Given the description of an element on the screen output the (x, y) to click on. 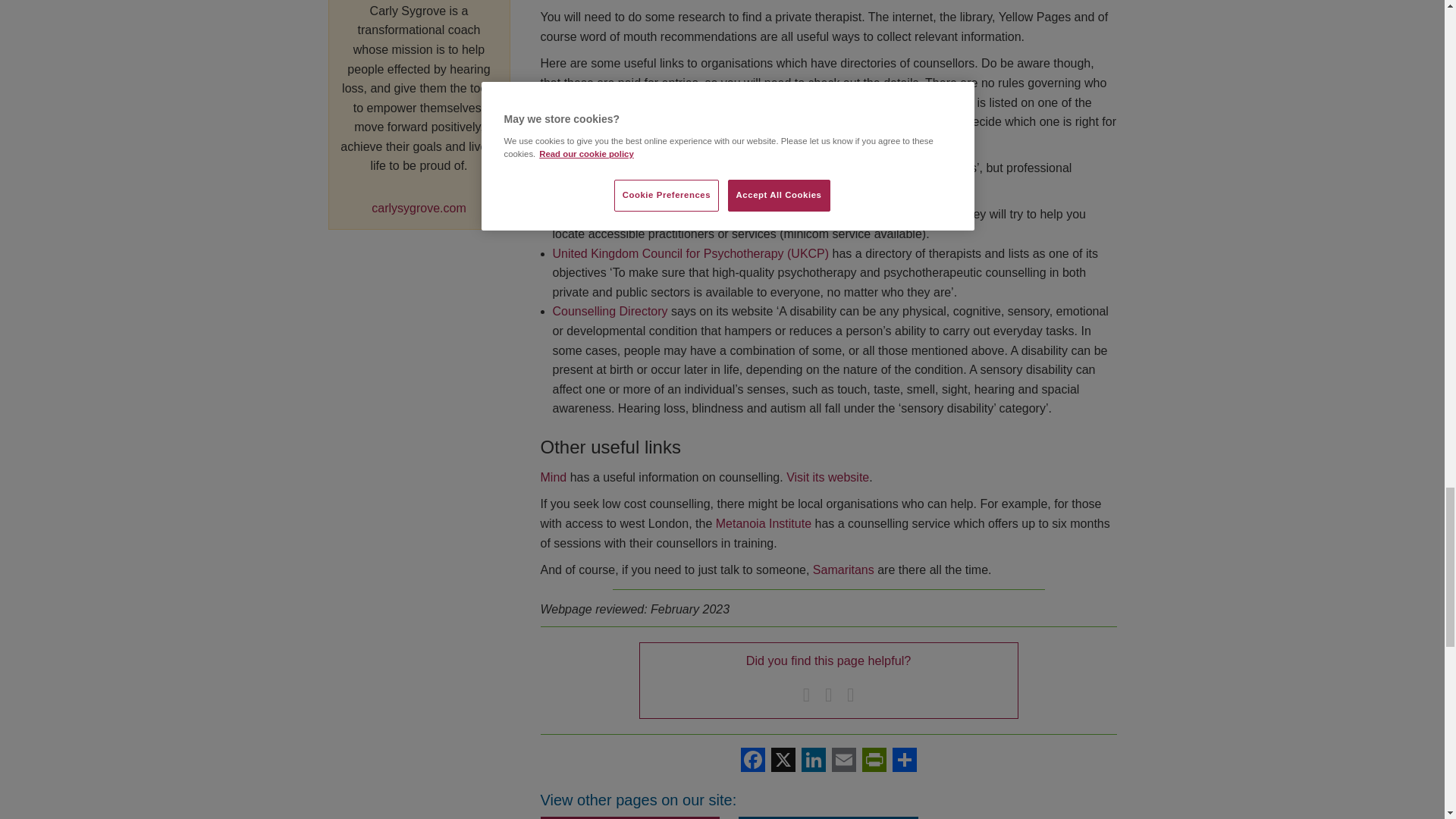
PrintFriendly (873, 759)
Facebook (751, 759)
Email (843, 759)
X (782, 759)
LinkedIn (812, 759)
